Given the description of an element on the screen output the (x, y) to click on. 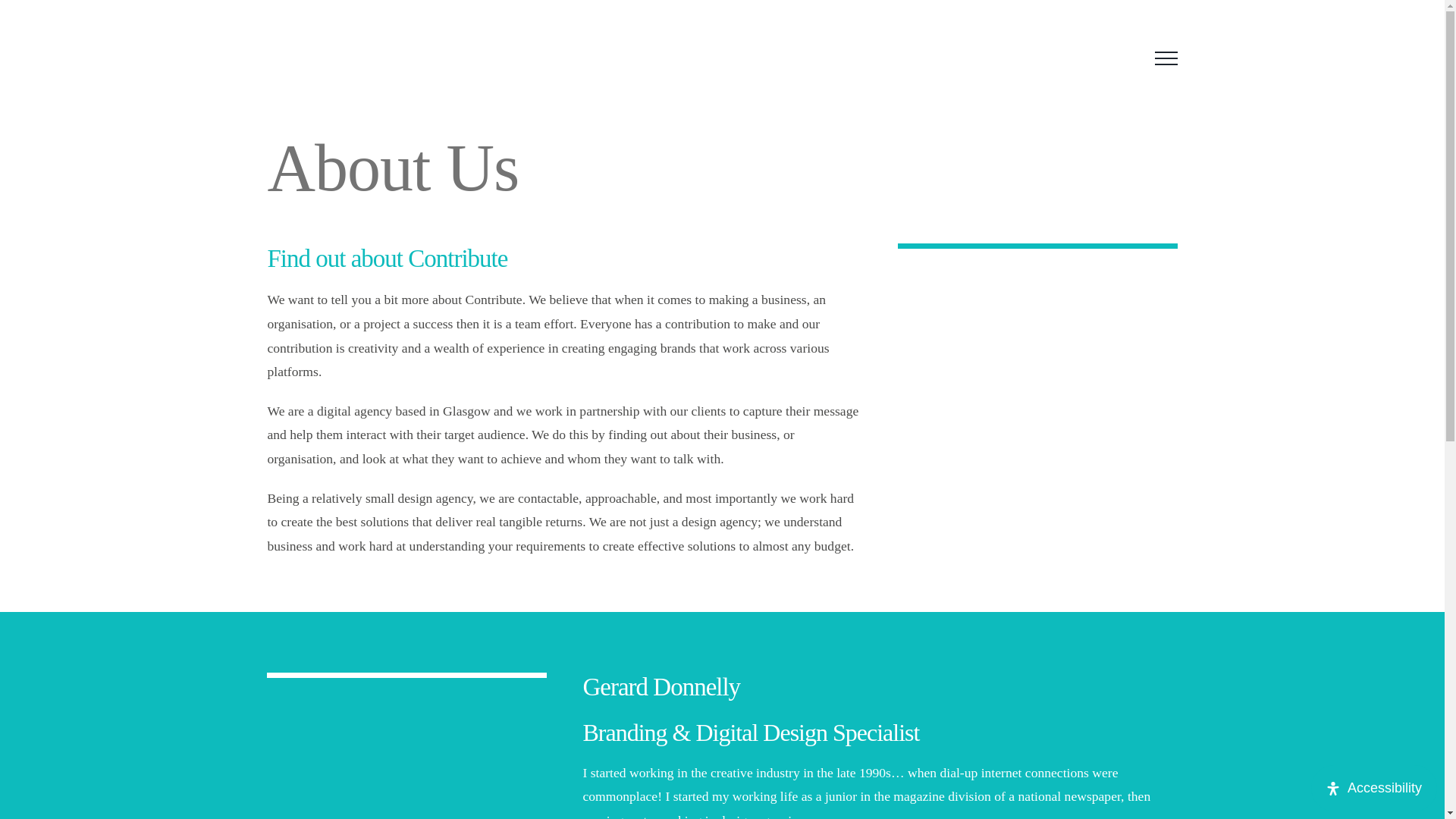
My Picture 2 (406, 748)
Accessibility (1374, 787)
Contribute-Hello-2 (1037, 353)
